Given the description of an element on the screen output the (x, y) to click on. 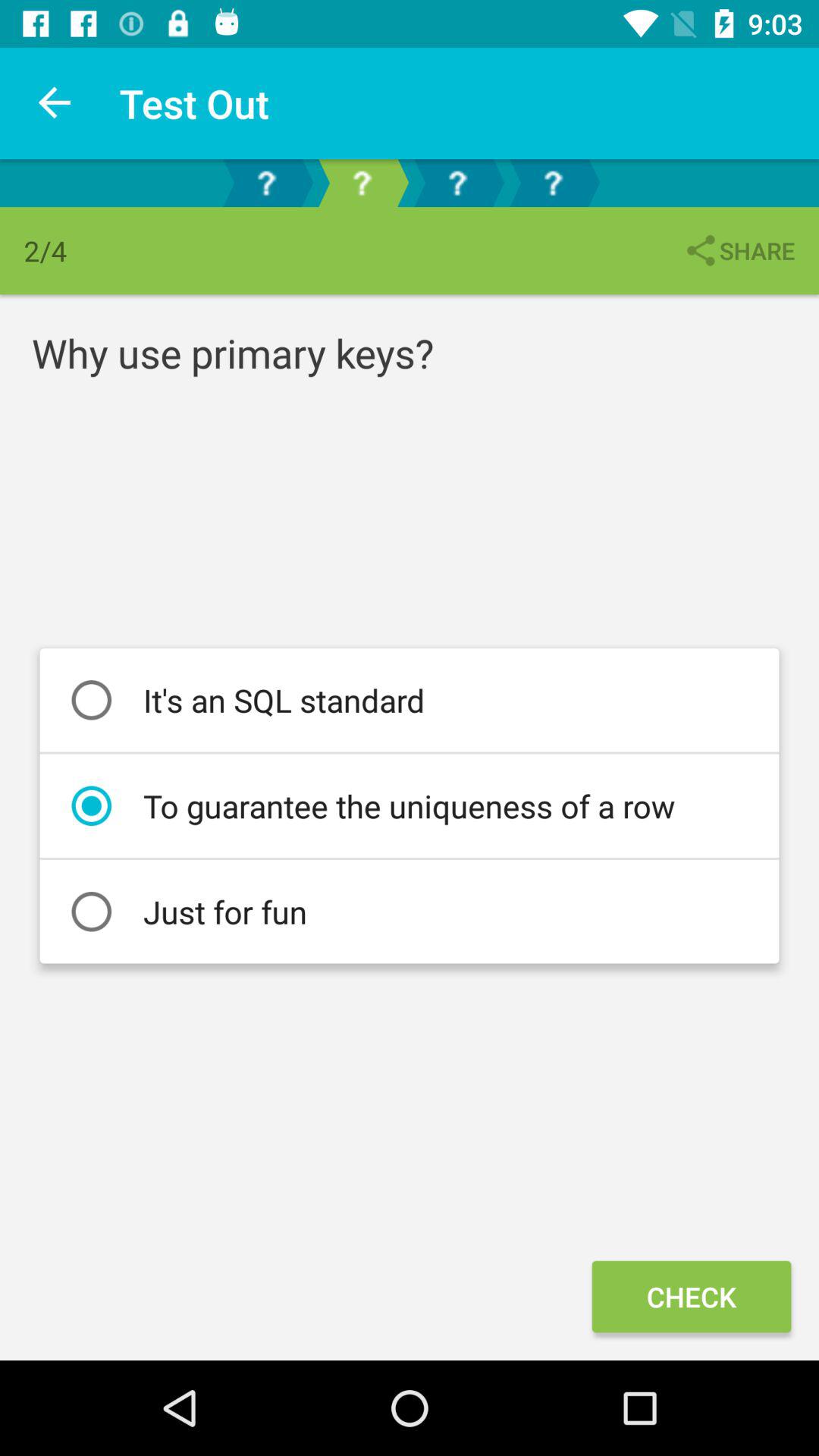
help (552, 183)
